Given the description of an element on the screen output the (x, y) to click on. 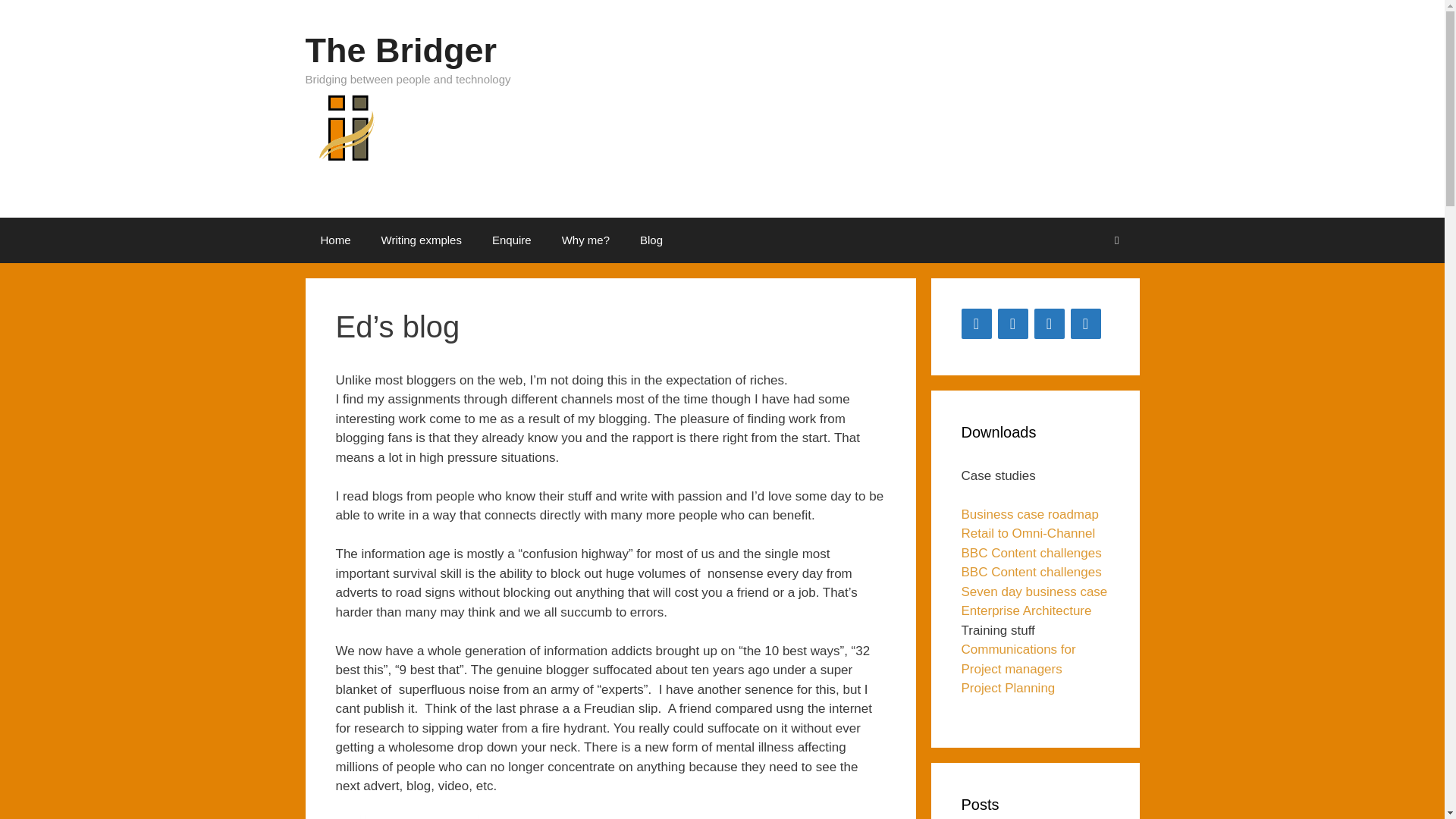
Project Planning (1007, 687)
The Bridger (400, 50)
Seven day business case (1034, 590)
BBC Content challenges (1031, 572)
Home (334, 239)
Blog (651, 239)
Enterprise Architecture (1026, 610)
Enquire (512, 239)
Retail to Omni-Channel (1028, 533)
BBC Content challenges (1031, 553)
Why me? (585, 239)
Business case roadmap (1029, 513)
The Bridger (342, 136)
Communications for Project managers (1017, 659)
Writing exmples (421, 239)
